Given the description of an element on the screen output the (x, y) to click on. 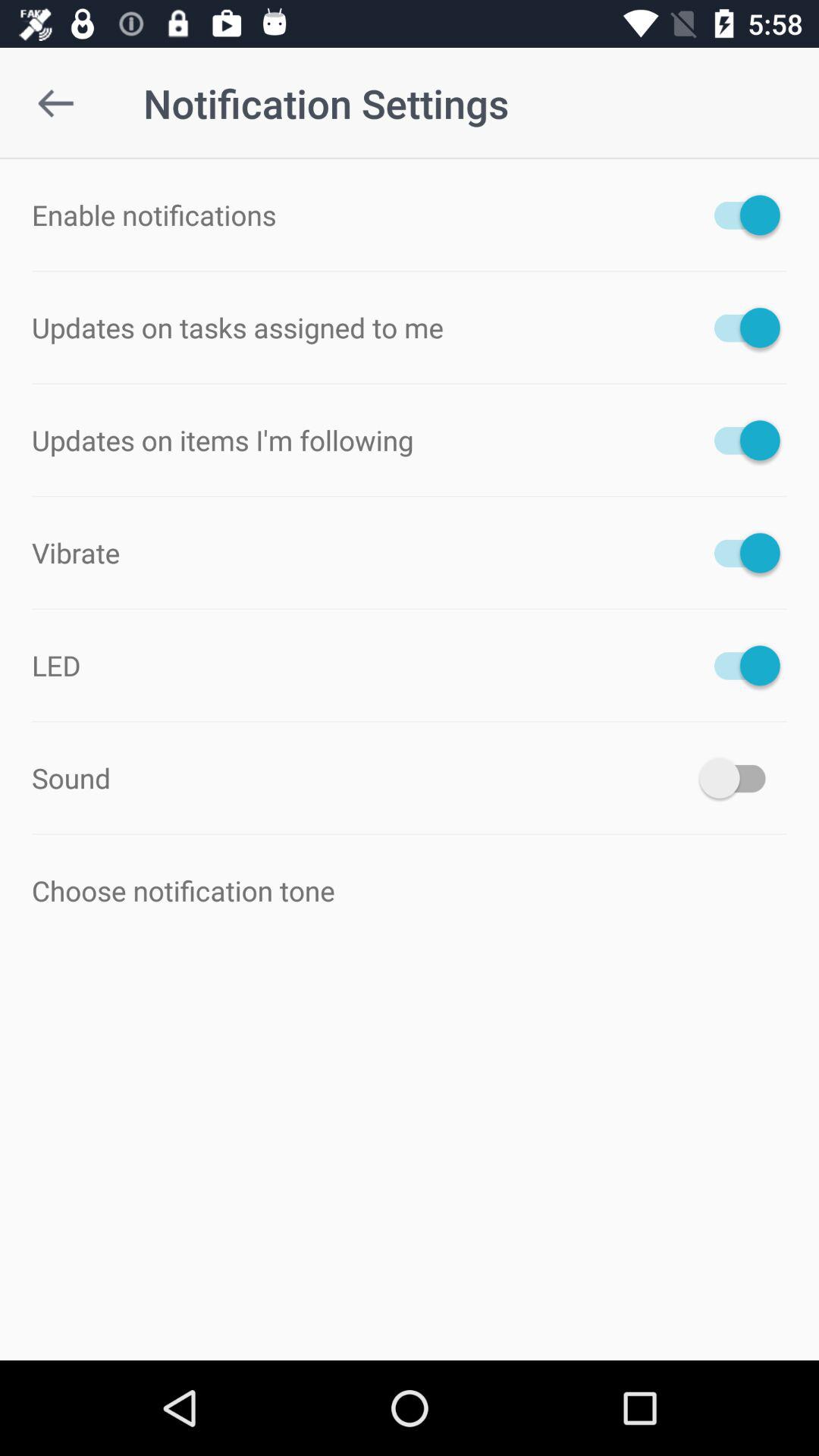
toggle led notification (739, 665)
